Given the description of an element on the screen output the (x, y) to click on. 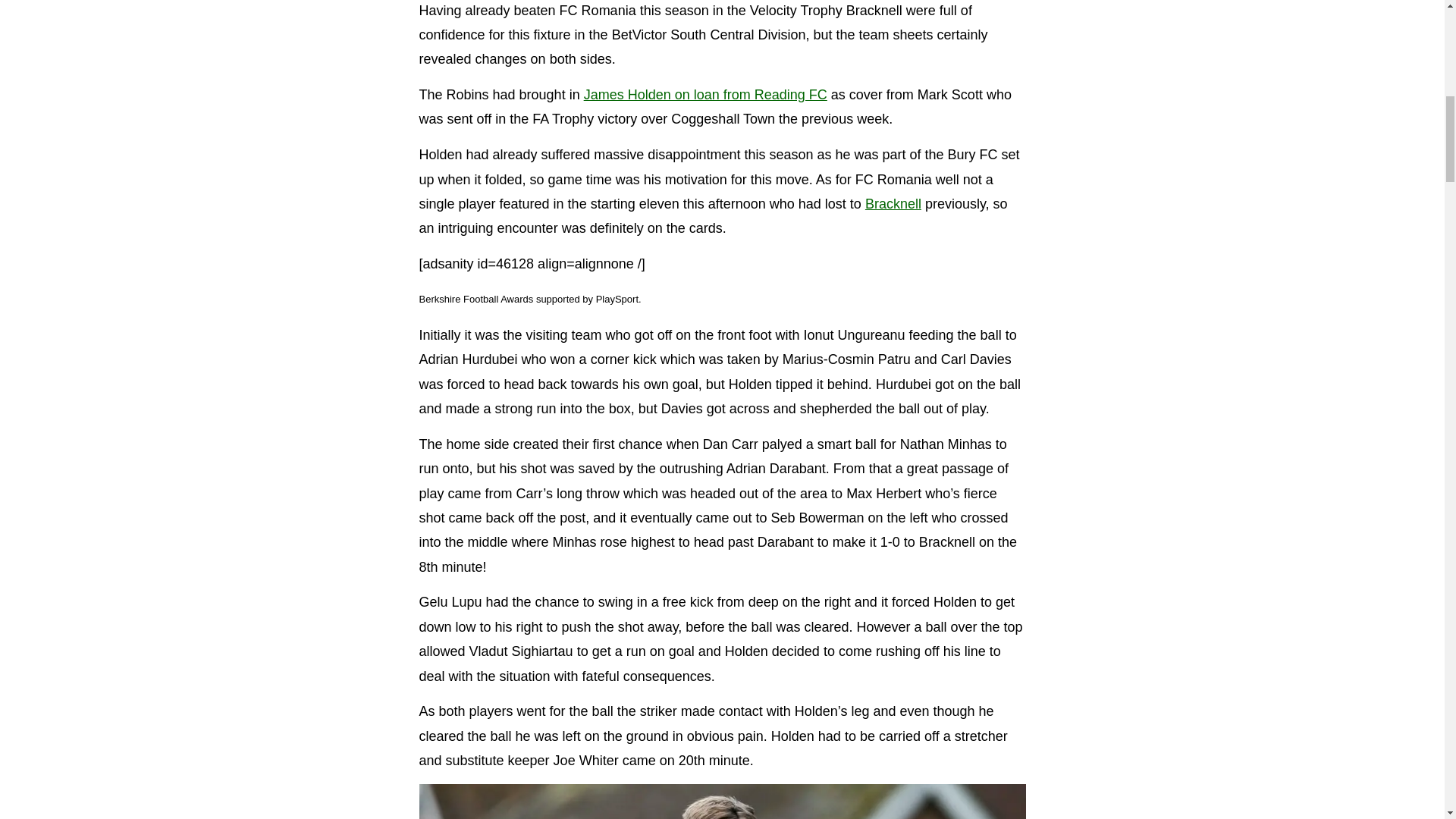
James Holden on loan from Reading FC (705, 94)
Bracknell (892, 203)
